Given the description of an element on the screen output the (x, y) to click on. 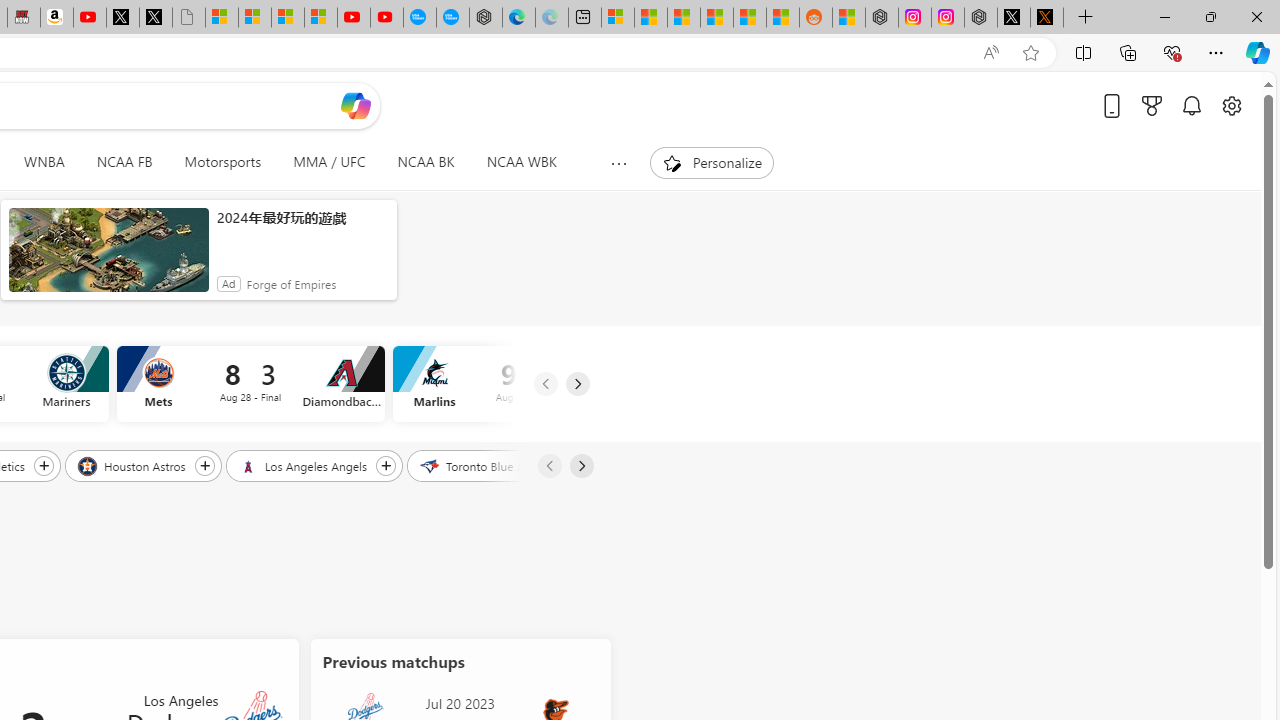
Nordace (@NordaceOfficial) / X (1014, 17)
Previous (548, 465)
Marlins 9 vs Rockies 8Final Date Aug 28 (525, 383)
WNBA (43, 162)
NCAA BK (426, 162)
YouTube Kids - An App Created for Kids to Explore Content (387, 17)
Day 1: Arriving in Yemen (surreal to be here) - YouTube (90, 17)
Microsoft rewards (1151, 105)
Open settings (1231, 105)
Nordace - Nordace has arrived Hong Kong (485, 17)
NCAA FB (123, 162)
